Given the description of an element on the screen output the (x, y) to click on. 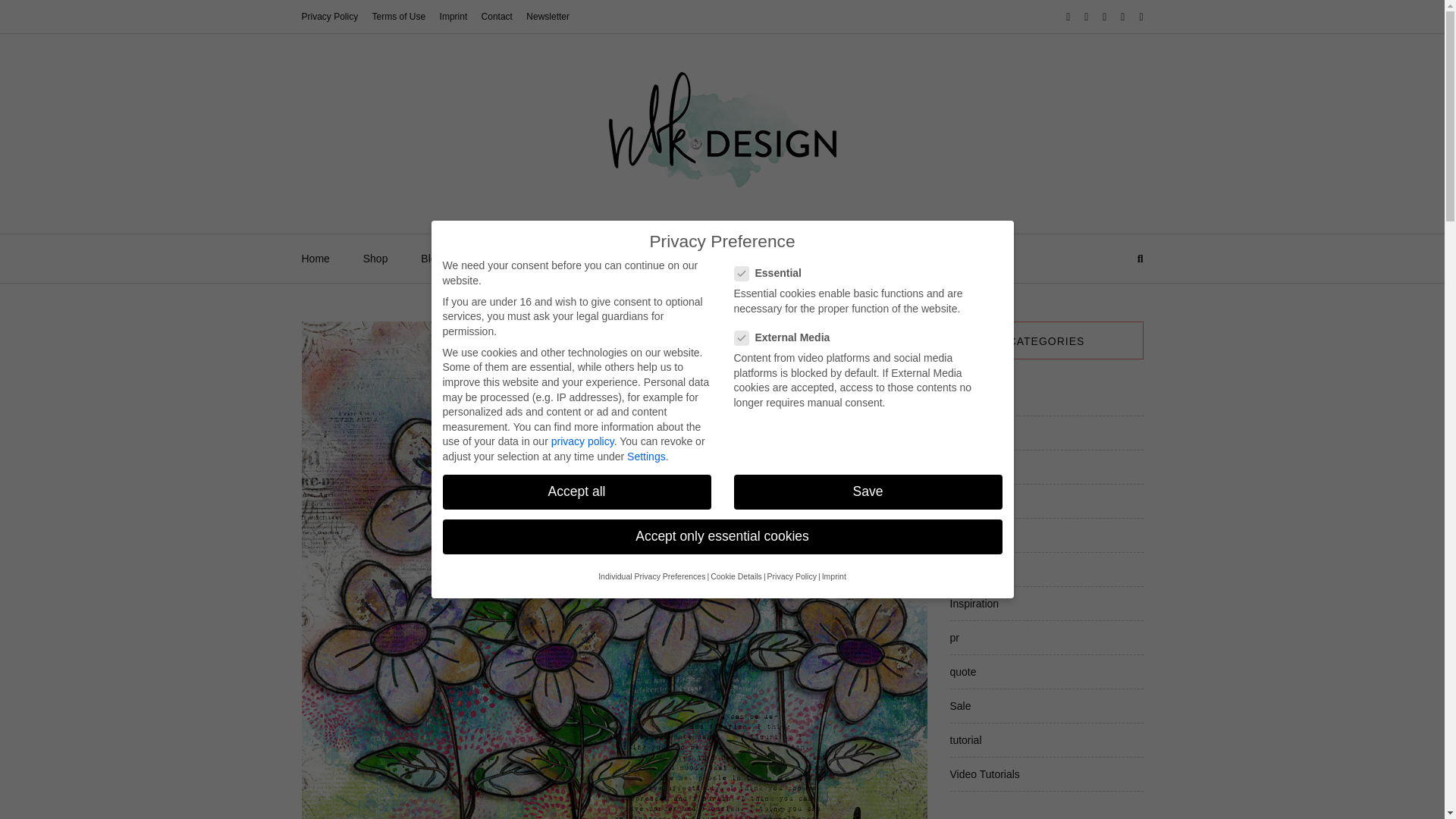
Imprint (453, 16)
Newsletter (912, 258)
Newsletter (547, 16)
Product Catalogue (519, 258)
Contact (496, 16)
Privacy Policy (329, 16)
Link-Tree (754, 258)
Terms of Use (399, 16)
ARTology (832, 258)
